Given the description of an element on the screen output the (x, y) to click on. 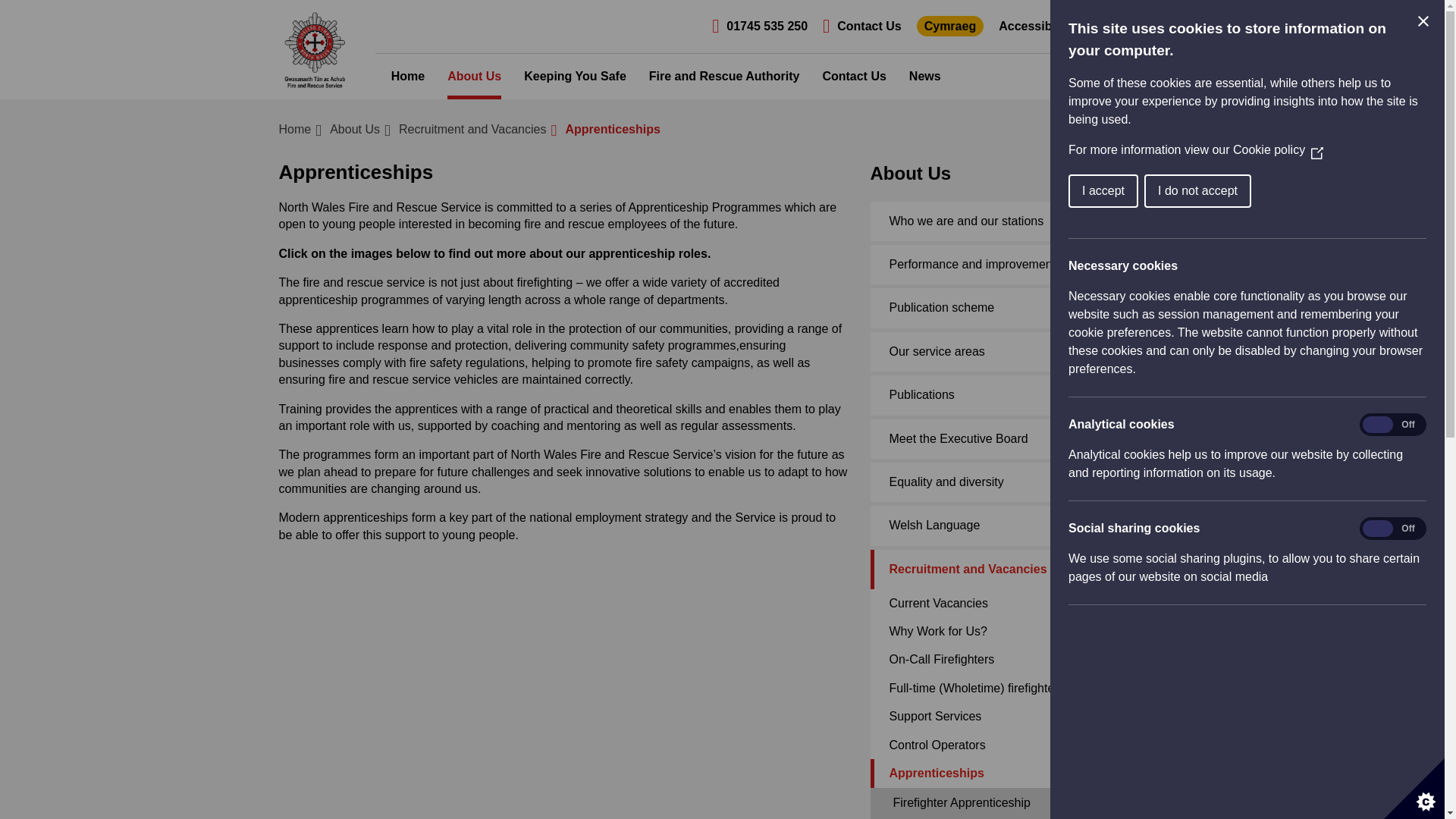
Who we are and our stations (1018, 220)
Home (295, 128)
Keeping You Safe (574, 76)
Meet the Executive Board (1018, 438)
About Us (355, 128)
Recruitment and Vacancies (472, 128)
Cymraeg (950, 26)
Contact Us (853, 76)
I do not accept (1337, 191)
Contact Us (861, 26)
Publications (1018, 394)
Meet the Executive Board (1018, 438)
About Us (473, 76)
Publication scheme (1018, 307)
About Us (355, 128)
